Given the description of an element on the screen output the (x, y) to click on. 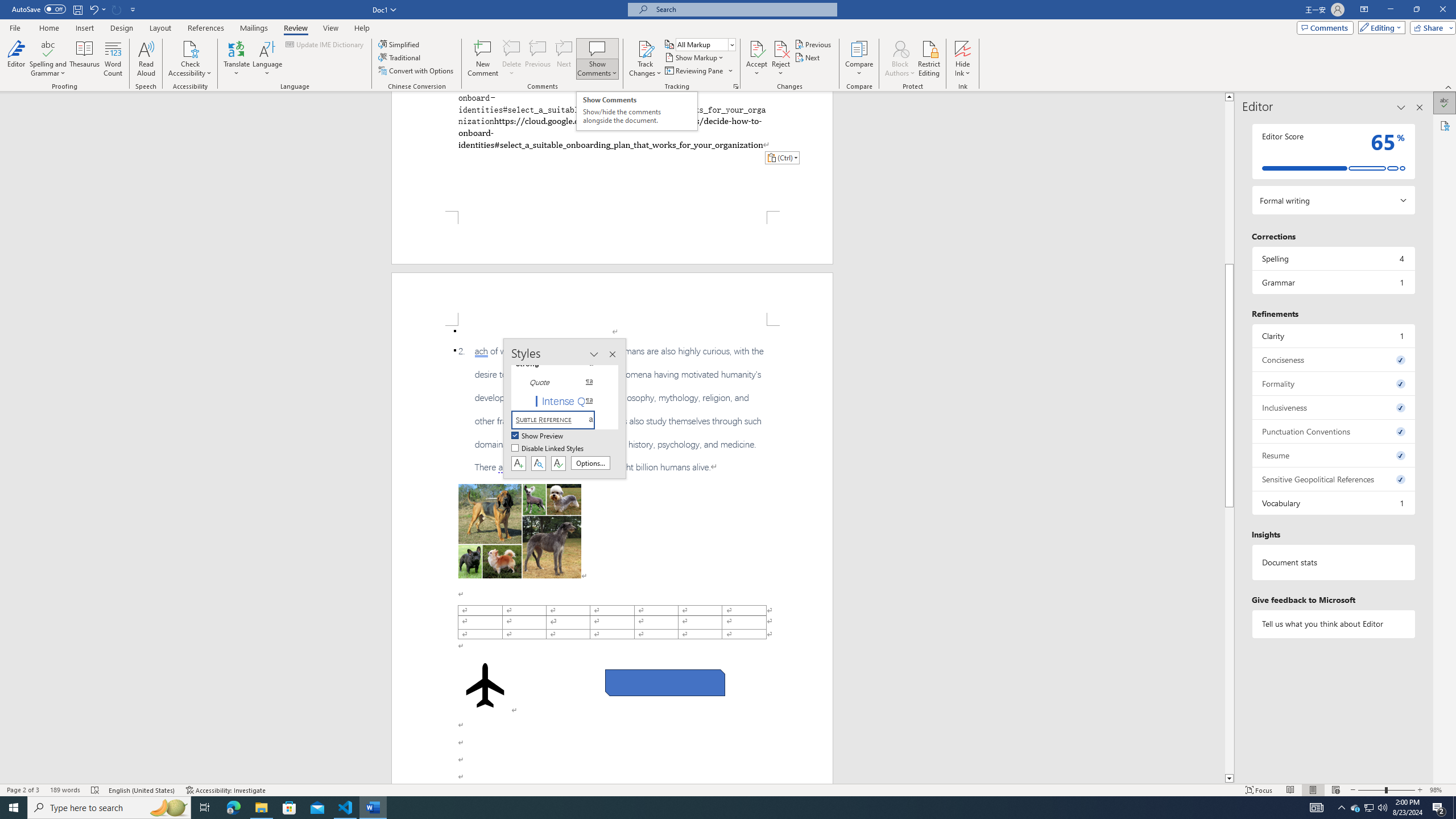
Can't Repeat (117, 9)
Page down (1229, 639)
Show Markup (695, 56)
Word Count (113, 58)
Simplified (400, 44)
Conciseness, 0 issues. Press space or enter to review items. (1333, 359)
Vocabulary, 1 issue. Press space or enter to review items. (1333, 502)
